Given the description of an element on the screen output the (x, y) to click on. 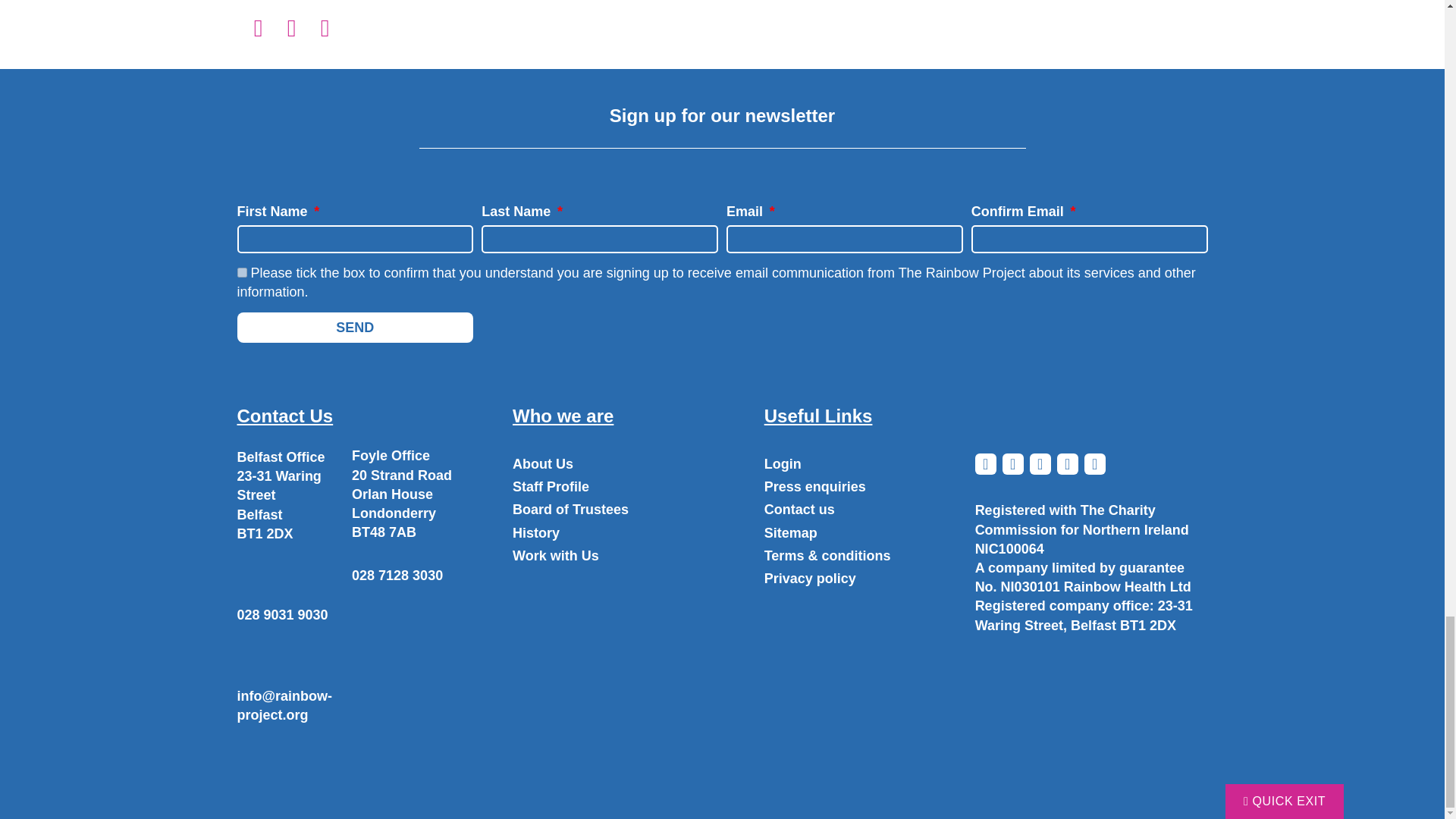
on (240, 272)
